Given the description of an element on the screen output the (x, y) to click on. 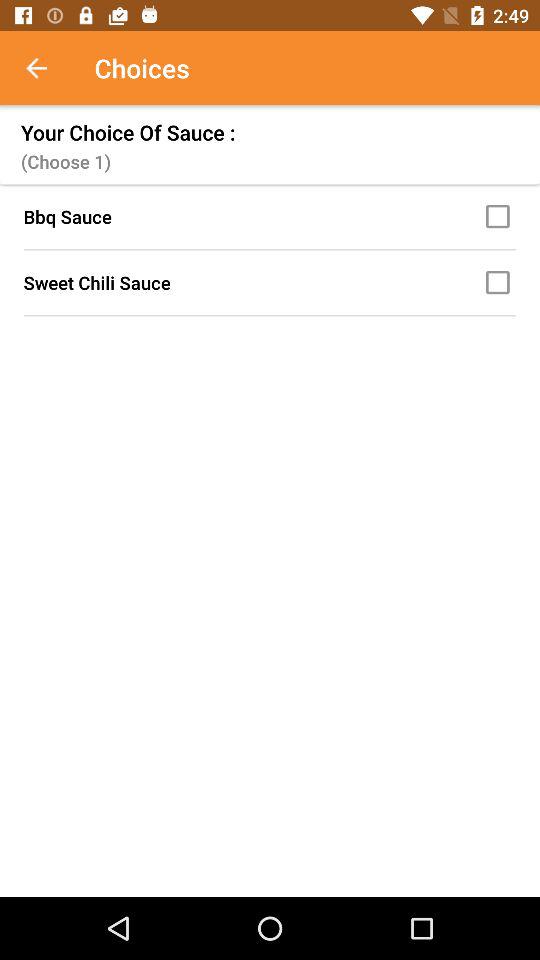
select bbq sauce (501, 216)
